Given the description of an element on the screen output the (x, y) to click on. 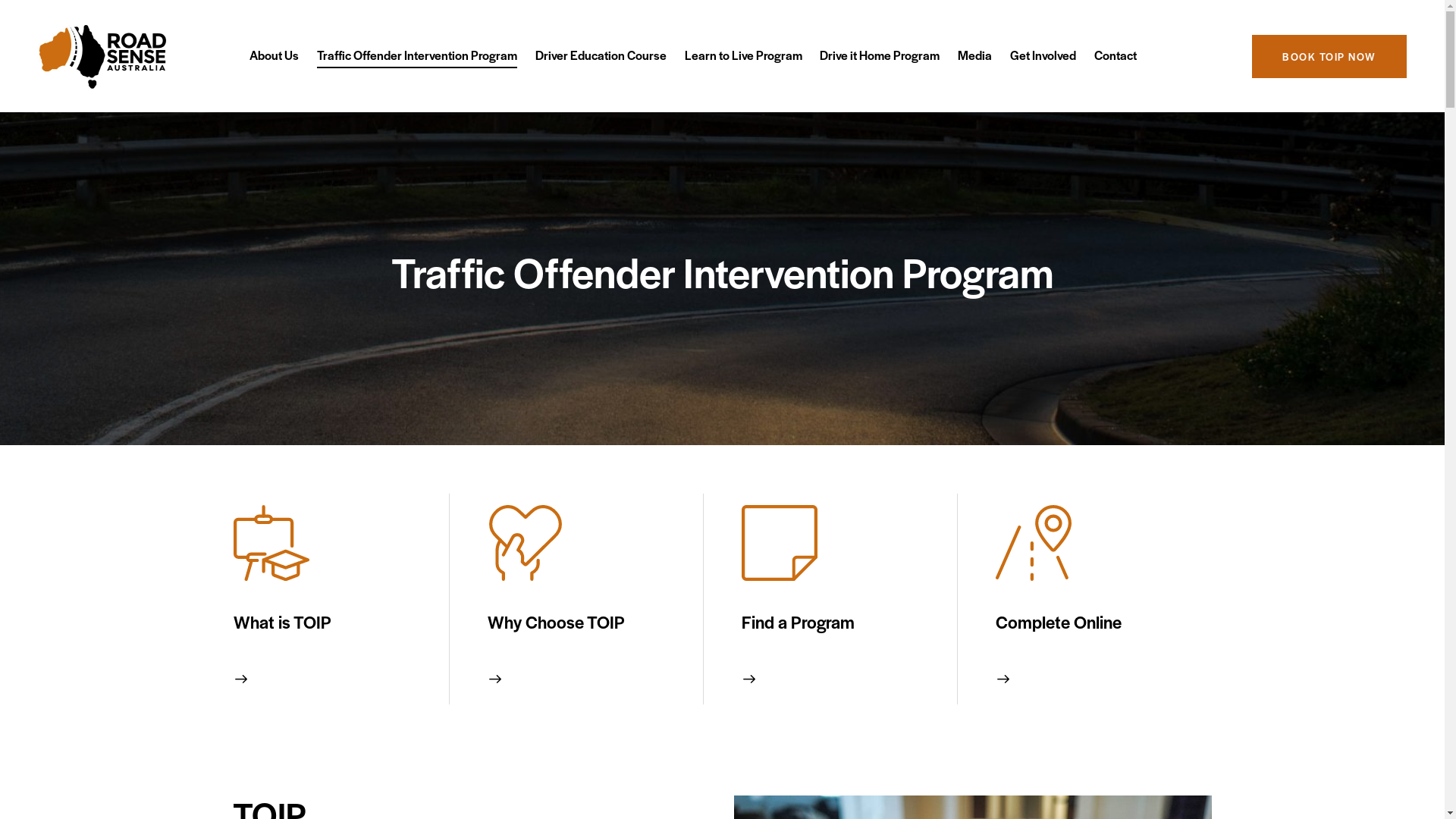
Contact Element type: text (1115, 55)
Complete Online Element type: text (1094, 622)
What is TOIP Element type: text (333, 622)
About Us Element type: text (273, 55)
Find a Program Element type: text (841, 622)
BOOK TOIP NOW Element type: text (1329, 56)
Media Element type: text (974, 55)
Drive it Home Program Element type: text (879, 55)
Learn to Live Program Element type: text (743, 55)
Traffic Offender Intervention Program Element type: text (416, 55)
Driver Education Course Element type: text (600, 55)
Why Choose TOIP Element type: text (586, 622)
Get Involved Element type: text (1043, 55)
